Given the description of an element on the screen output the (x, y) to click on. 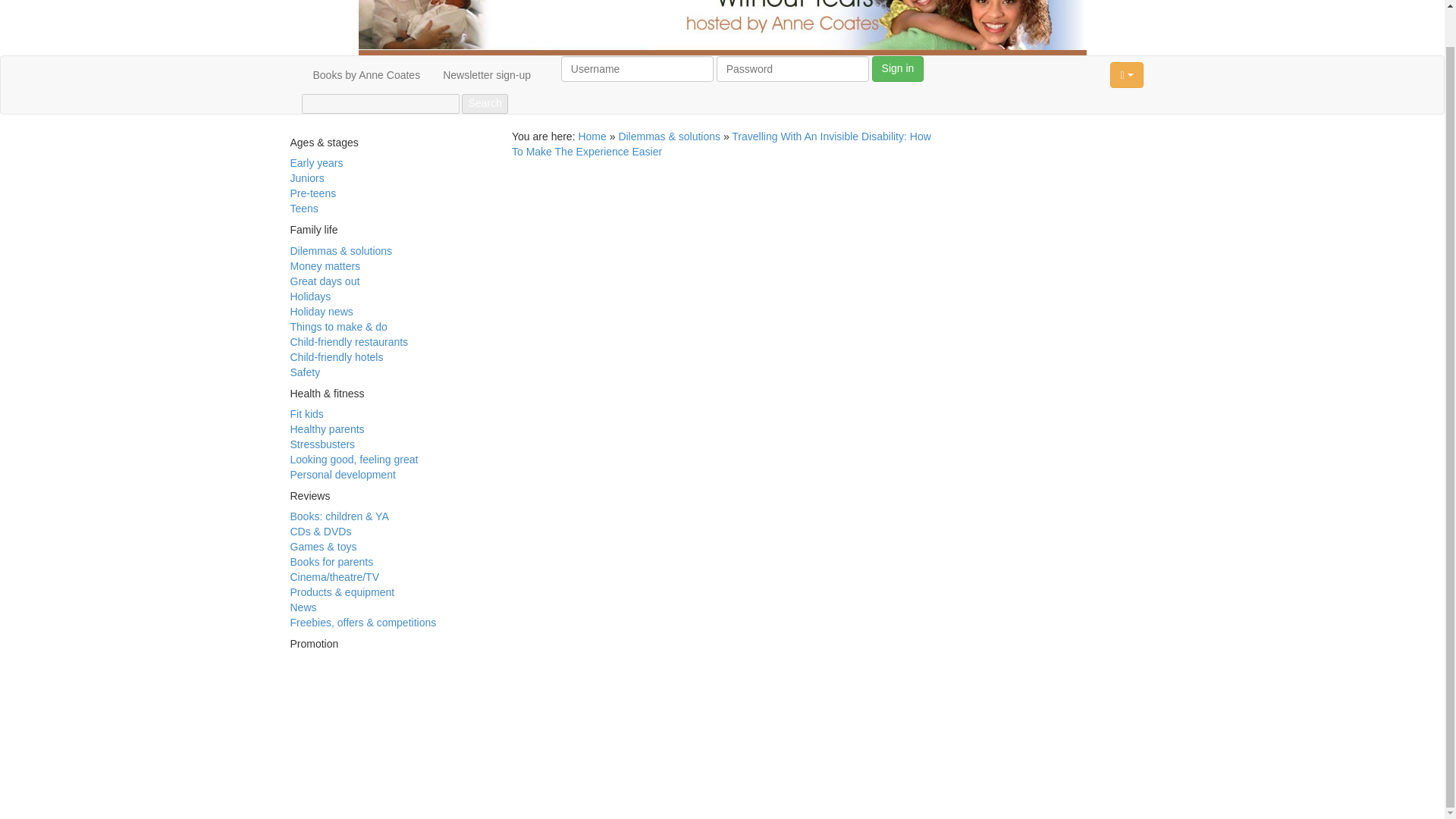
Holidays (309, 296)
Search (483, 103)
Healthy parents (326, 428)
Pre-teens (312, 193)
Home (591, 136)
Child-friendly restaurants (348, 341)
Child-friendly hotels (335, 357)
Holiday news (320, 311)
Looking good, feeling great (353, 459)
Juniors (306, 177)
